Given the description of an element on the screen output the (x, y) to click on. 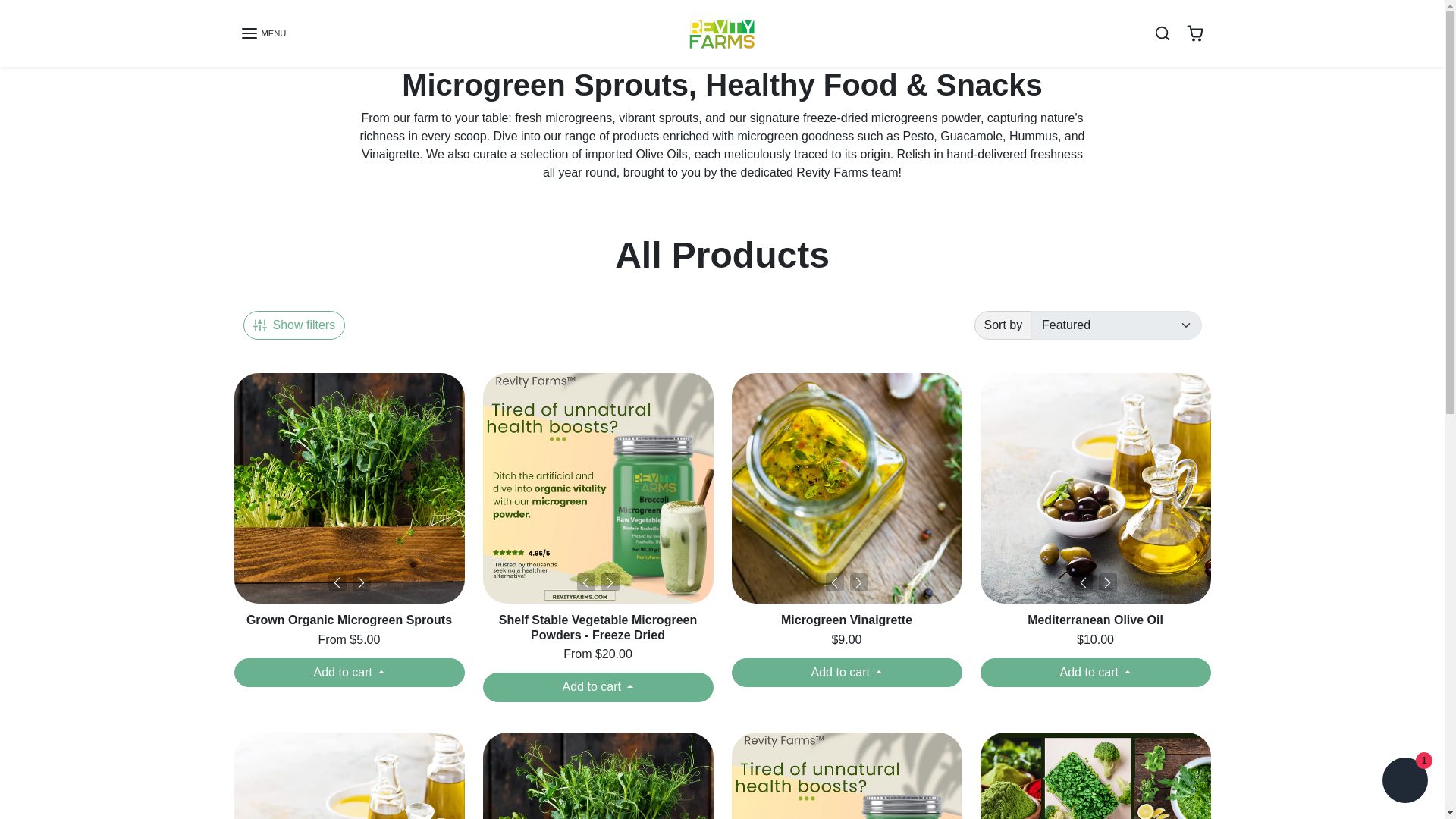
Shopify online store chat (1404, 781)
MENU (262, 33)
